Given the description of an element on the screen output the (x, y) to click on. 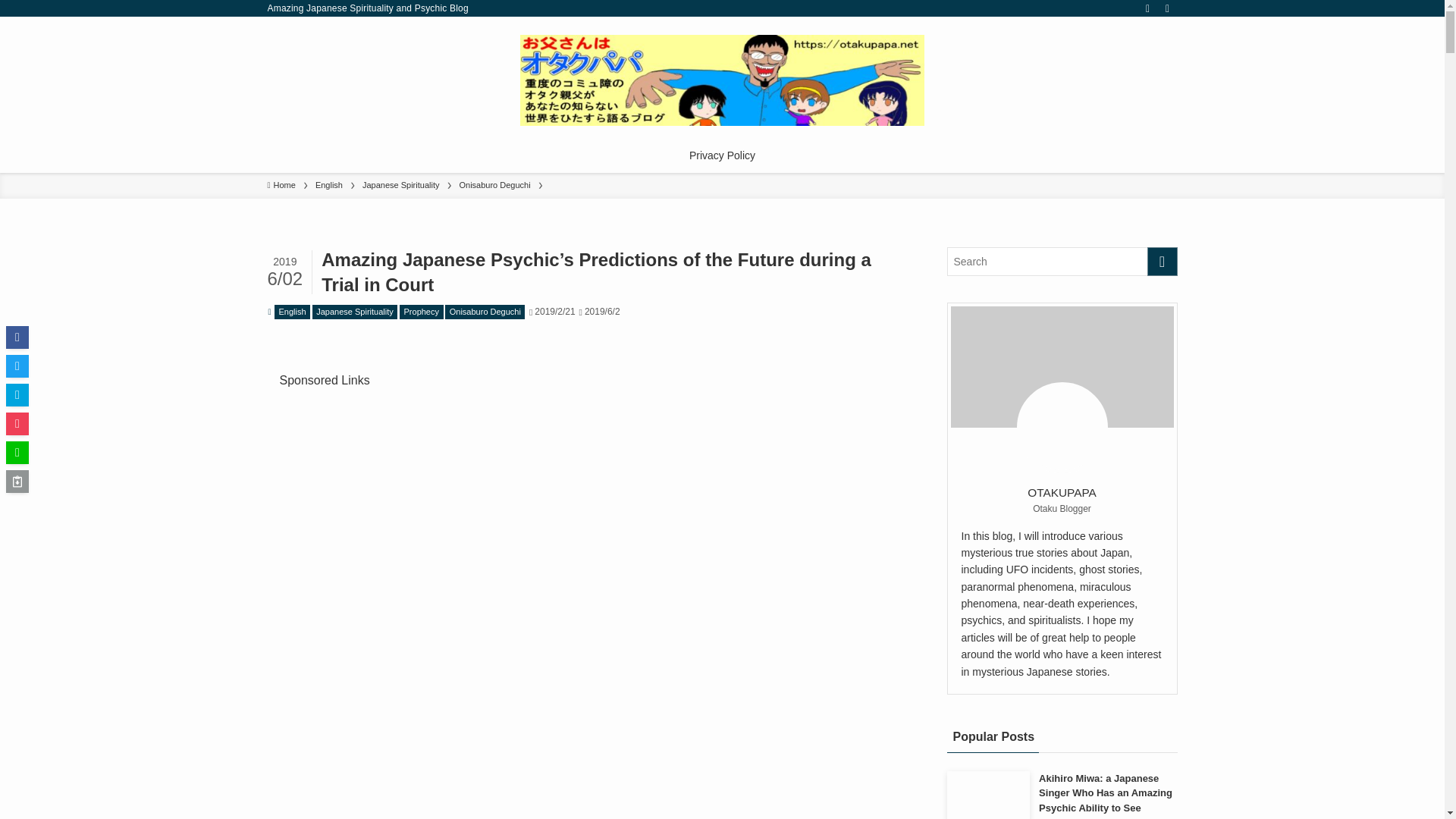
Register in Hatena Bookmark (17, 395)
Japanese Spirituality (355, 311)
English (328, 185)
Home (280, 185)
Copy the URL (17, 481)
Onisaburo Deguchi (493, 185)
English (292, 311)
Japanese Spirituality (400, 185)
Prophecy (420, 311)
Privacy Policy (722, 155)
Onisaburo Deguchi (484, 311)
Share on Twitter (17, 365)
Share on Facebook (17, 336)
Send to LINE (17, 452)
Save to Pocket (17, 423)
